Given the description of an element on the screen output the (x, y) to click on. 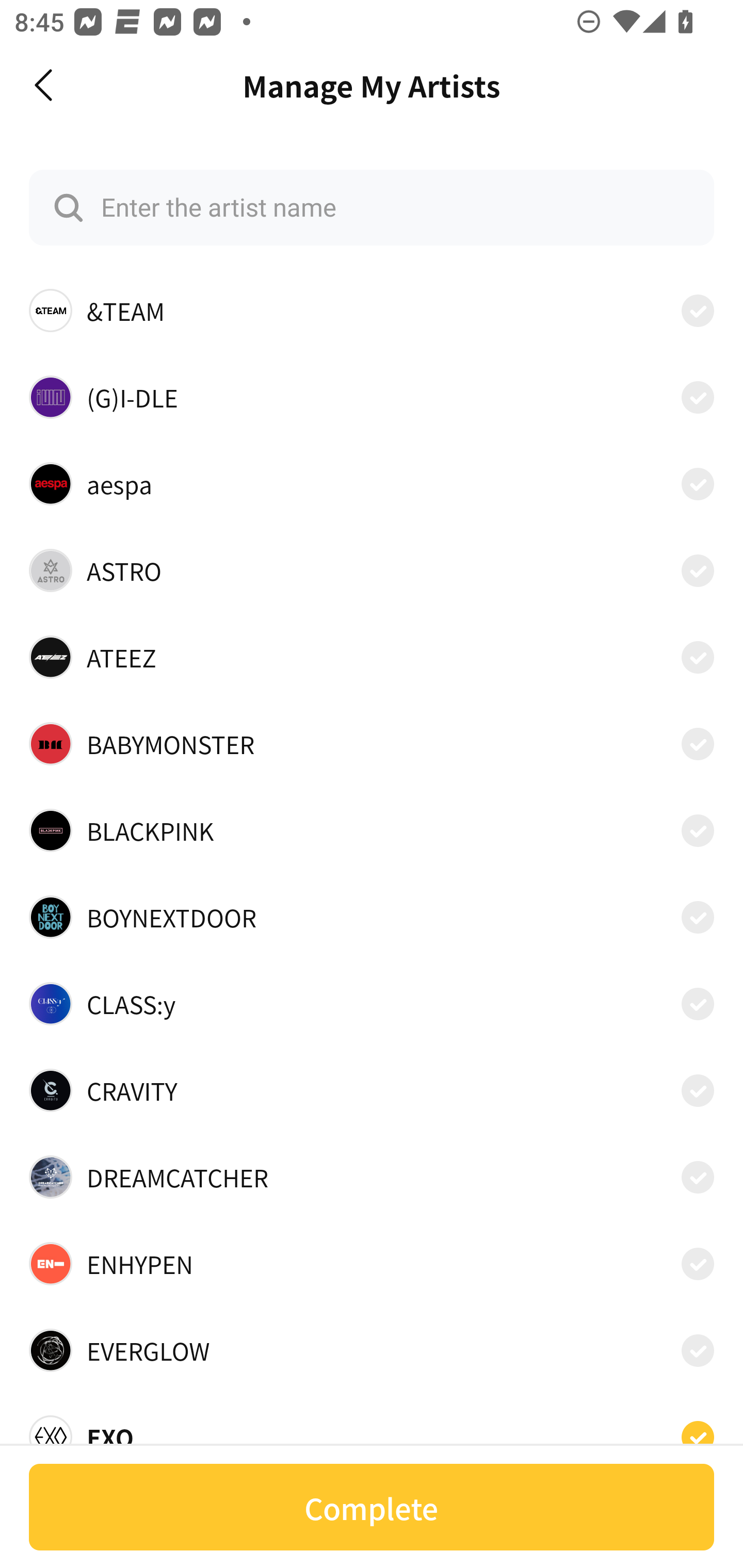
Enter the artist name (371, 207)
&TEAM (371, 310)
(G)I-DLE (371, 396)
aespa (371, 483)
ASTRO (371, 570)
ATEEZ (371, 656)
BABYMONSTER (371, 743)
BLACKPINK (371, 830)
BOYNEXTDOOR (371, 917)
CLASS:y (371, 1003)
CRAVITY (371, 1090)
DREAMCATCHER (371, 1176)
ENHYPEN (371, 1263)
EVERGLOW (371, 1350)
EXO (371, 1430)
Complete (371, 1507)
